Given the description of an element on the screen output the (x, y) to click on. 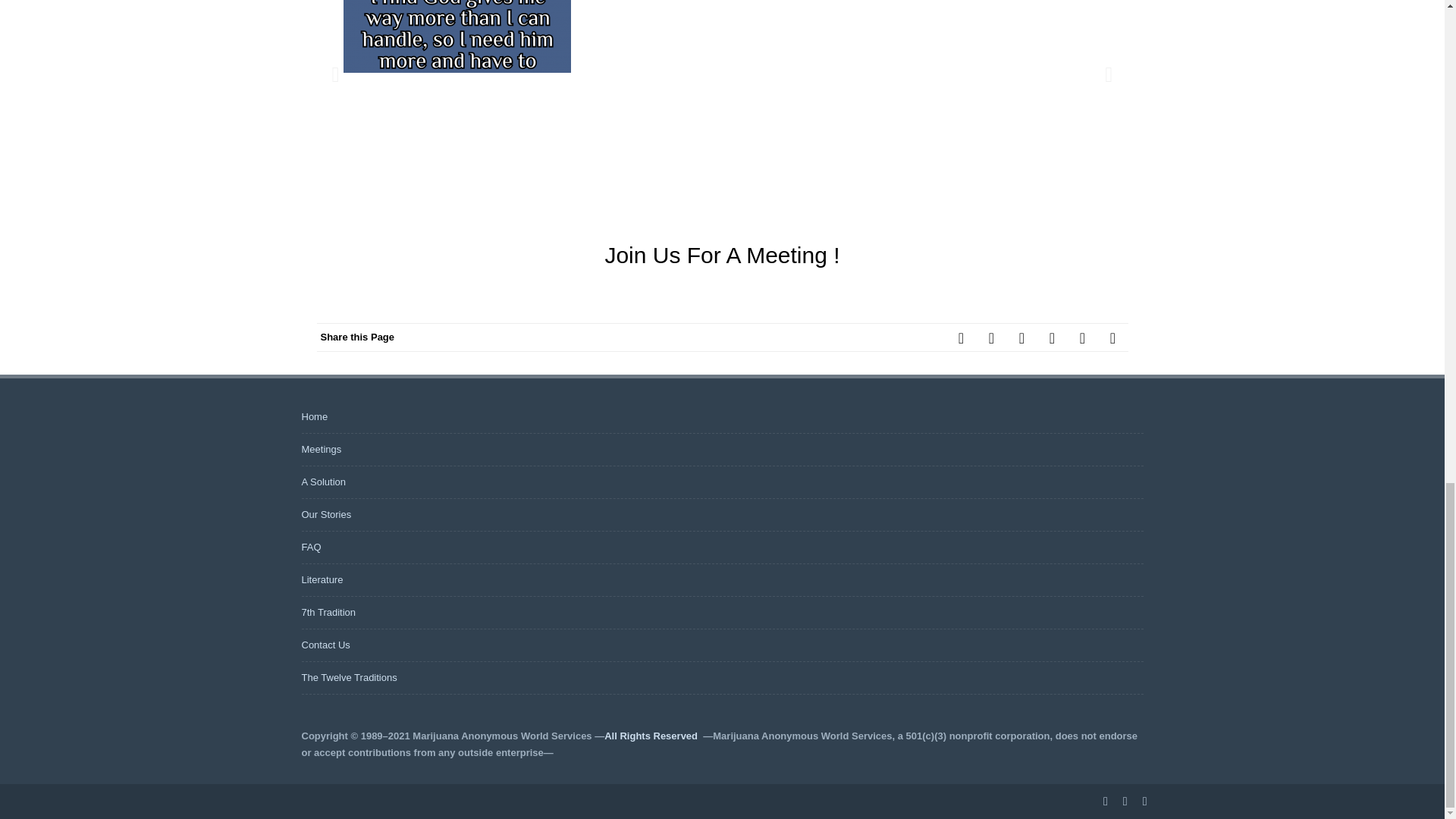
Facebook (961, 337)
Email (1112, 337)
LinkedIn (1051, 337)
Pinterest (1021, 337)
Instagram (1082, 337)
Twitter (991, 337)
